Given the description of an element on the screen output the (x, y) to click on. 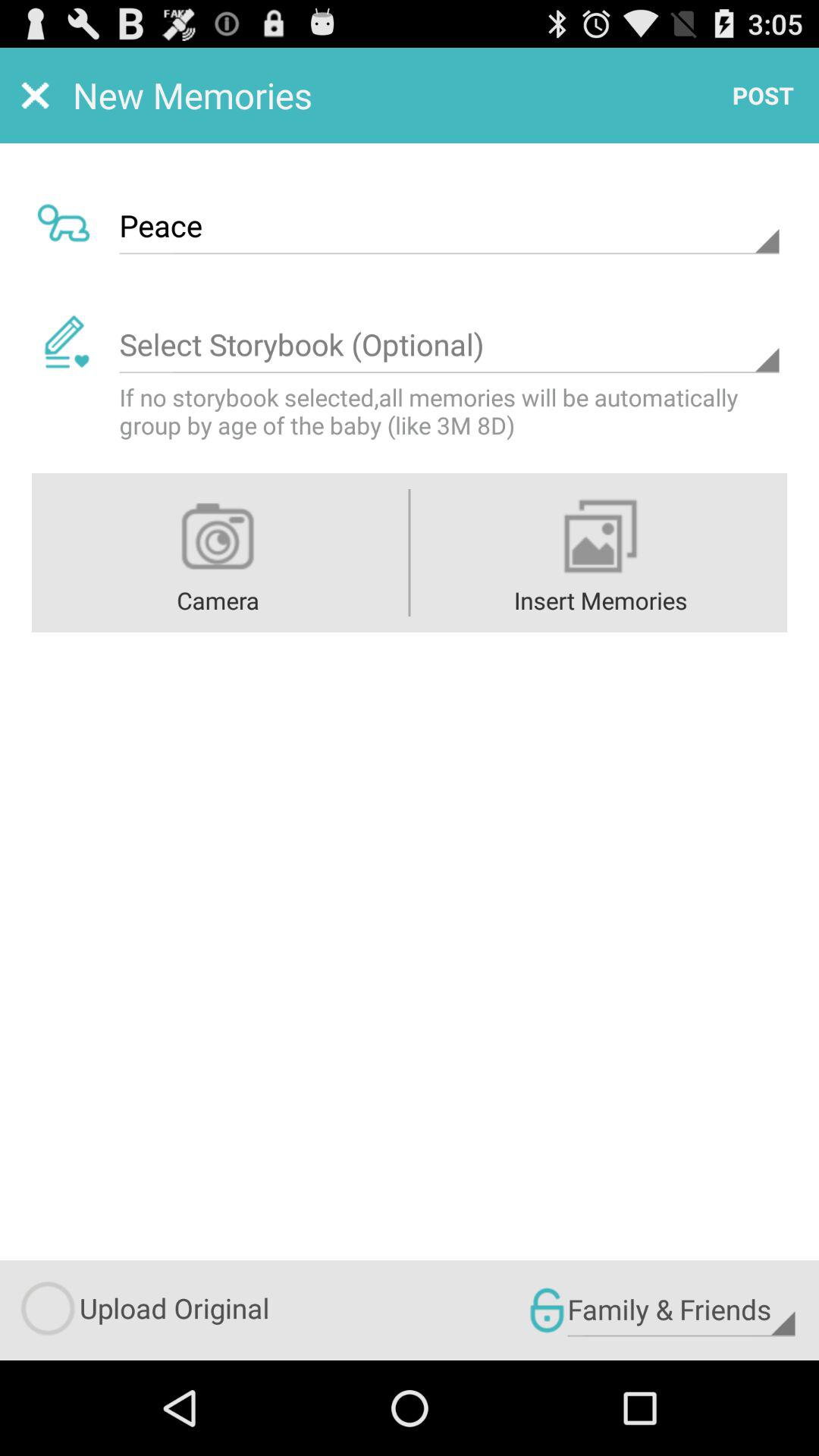
text box (449, 345)
